Given the description of an element on the screen output the (x, y) to click on. 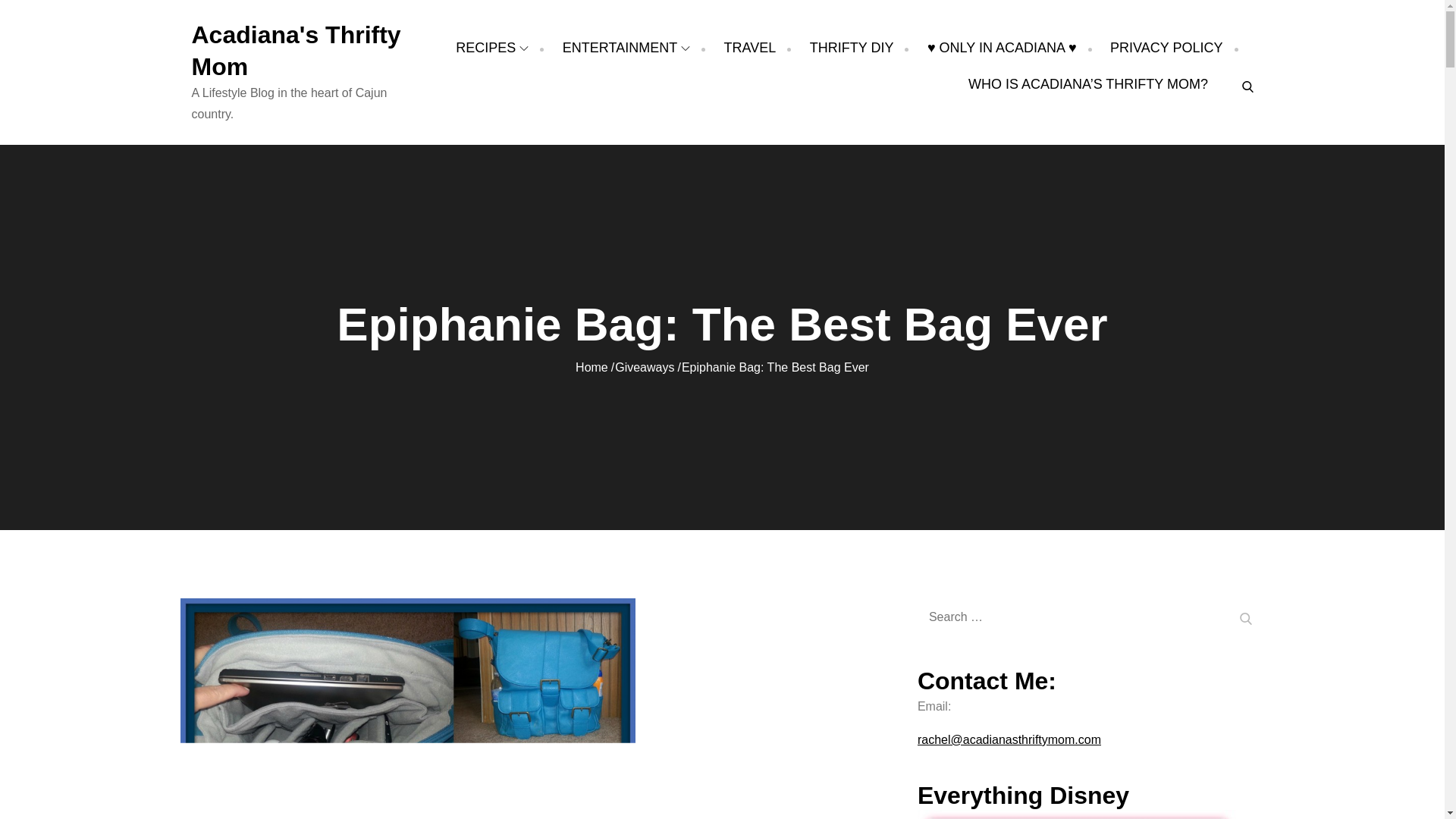
RECIPES (491, 47)
TRAVEL (749, 47)
Acadiana's Thrifty Mom (295, 50)
THRIFTY DIY (851, 47)
PRIVACY POLICY (1166, 47)
ENTERTAINMENT (626, 47)
